Given the description of an element on the screen output the (x, y) to click on. 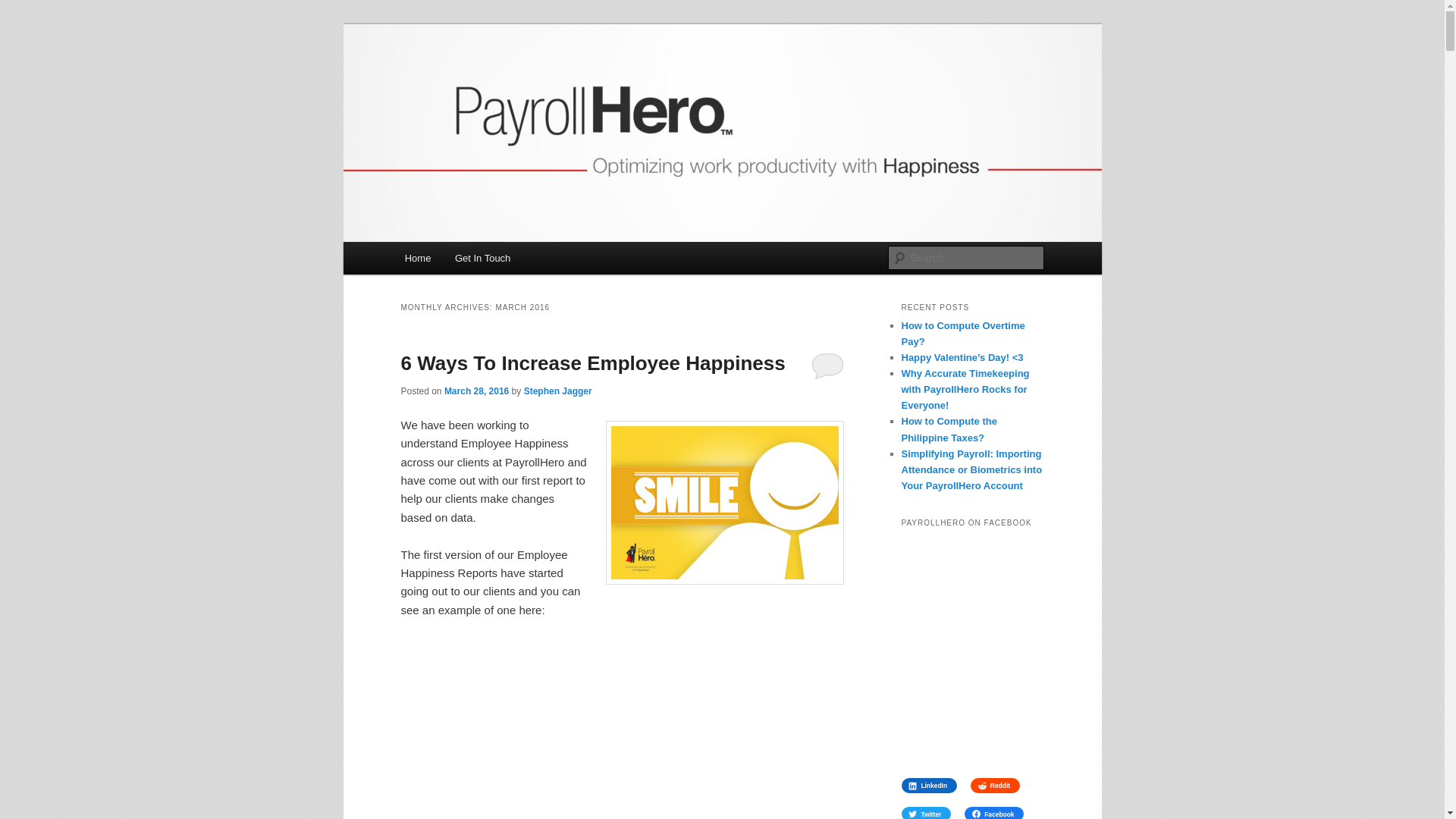
6:54 am (476, 389)
Home (417, 257)
Stephen Jagger (558, 389)
6 Ways To Increase Employee Happiness (592, 363)
Search (24, 8)
March 28, 2016 (476, 389)
View all posts by Stephen Jagger (558, 389)
Get In Touch (482, 257)
